Given the description of an element on the screen output the (x, y) to click on. 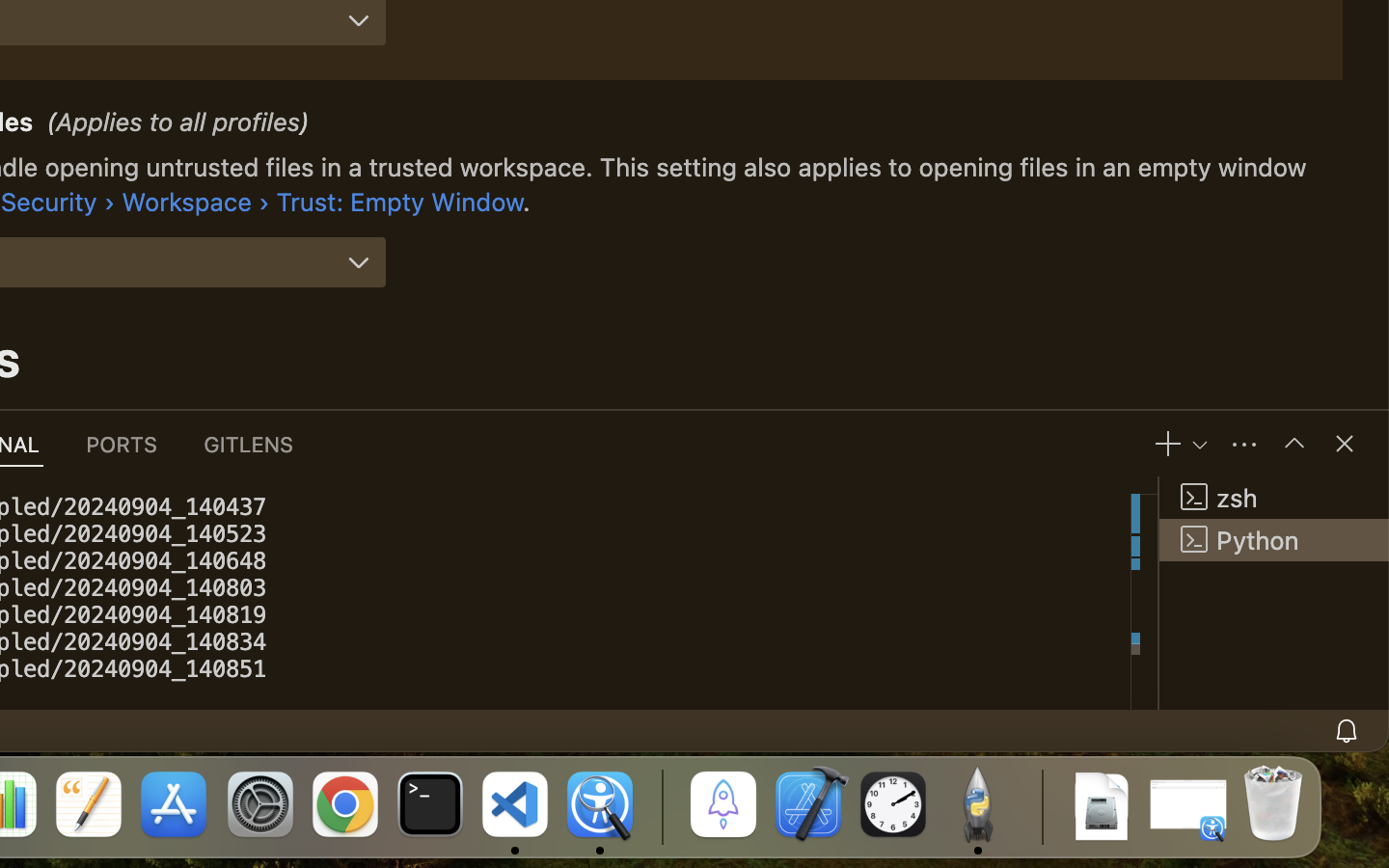
0.4285714328289032 Element type: AXDockItem (660, 805)
0 PORTS Element type: AXRadioButton (122, 443)
 Element type: AXButton (1344, 443)
Python  Element type: AXGroup (1274, 539)
Applies to all profiles Element type: AXGroup (177, 124)
